Given the description of an element on the screen output the (x, y) to click on. 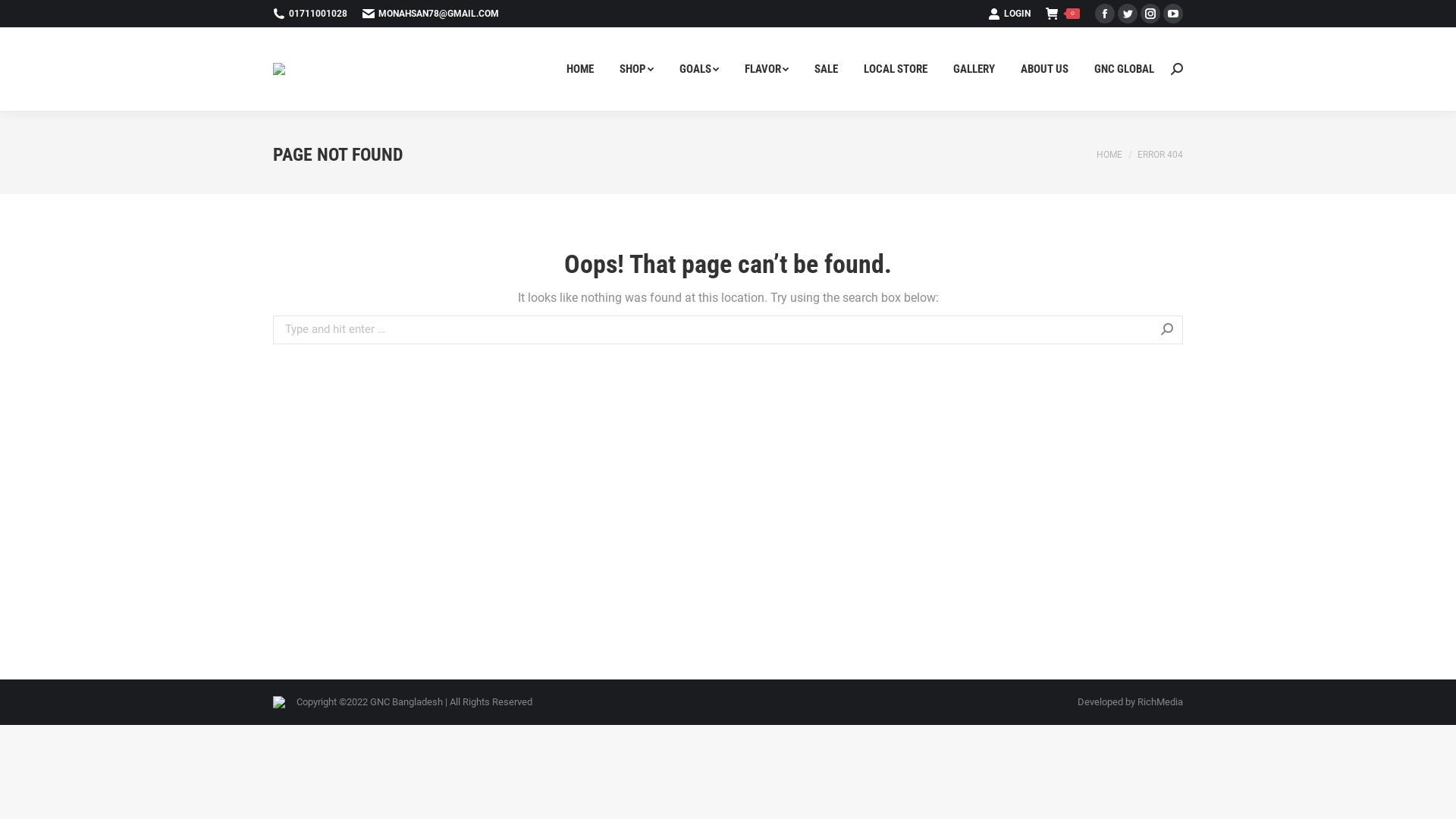
LOCAL STORE Element type: text (895, 68)
GOALS Element type: text (699, 68)
LOGIN Element type: text (1009, 13)
 0 Element type: text (1062, 13)
GALLERY Element type: text (974, 68)
SHOP Element type: text (636, 68)
FLAVOR Element type: text (766, 68)
GNC GLOBAL Element type: text (1124, 68)
Twitter page opens in new window Element type: text (1127, 13)
Go! Element type: text (1203, 330)
HOME Element type: text (1109, 153)
ABOUT US Element type: text (1044, 68)
Developed by RichMedia Element type: text (1130, 702)
HOME Element type: text (579, 68)
YouTube page opens in new window Element type: text (1173, 13)
Facebook page opens in new window Element type: text (1104, 13)
SALE Element type: text (826, 68)
Go! Element type: text (20, 15)
Instagram page opens in new window Element type: text (1150, 13)
